Given the description of an element on the screen output the (x, y) to click on. 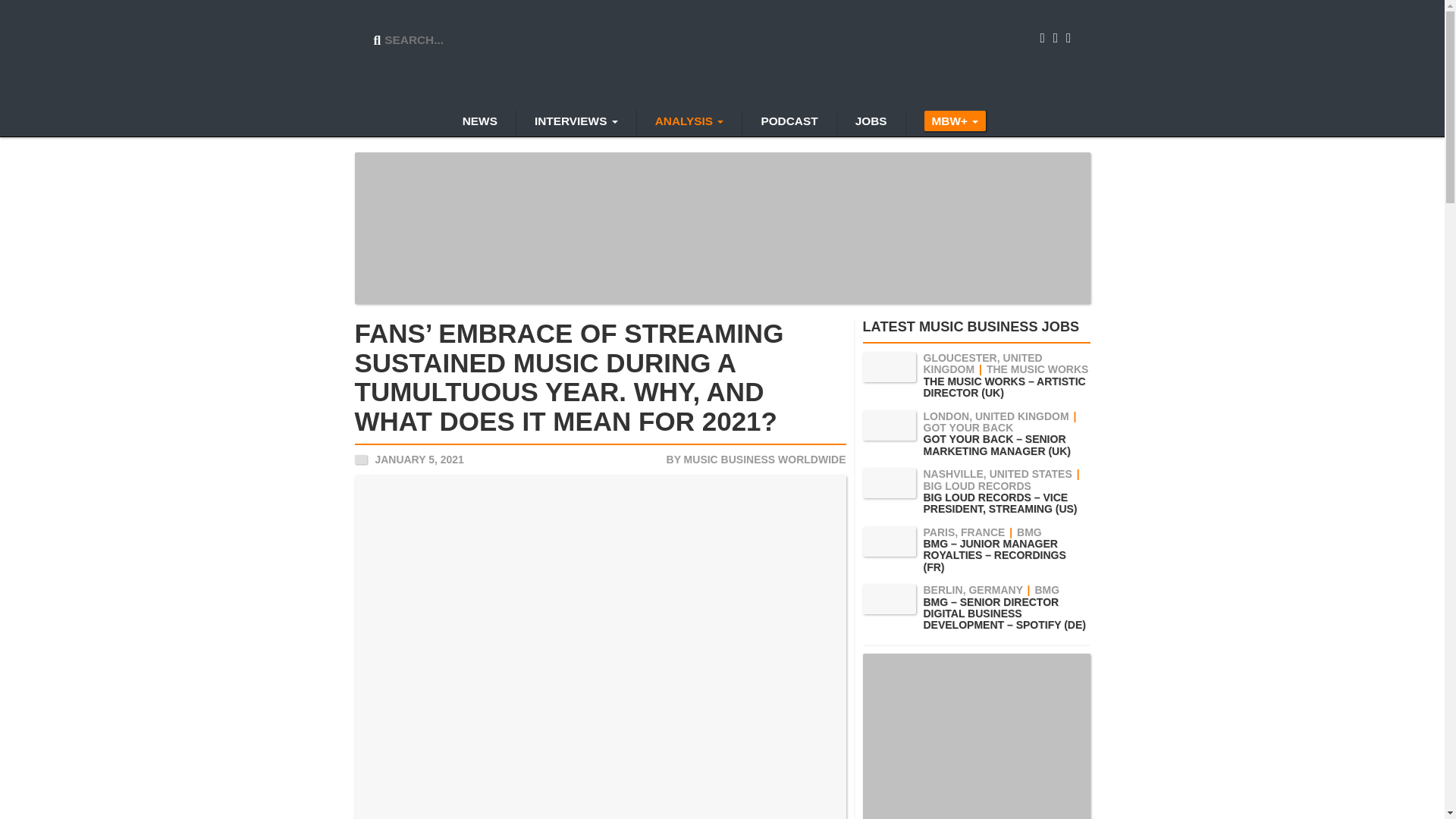
ANALYSIS (689, 122)
United States (360, 459)
NEWS (479, 122)
MUSIC BUSINESS WORLDWIDE (764, 459)
JOBS (870, 122)
PODCAST (788, 122)
Music Business Worldwide (722, 56)
INTERVIEWS (575, 122)
Music Business Worldwide (722, 56)
